Given the description of an element on the screen output the (x, y) to click on. 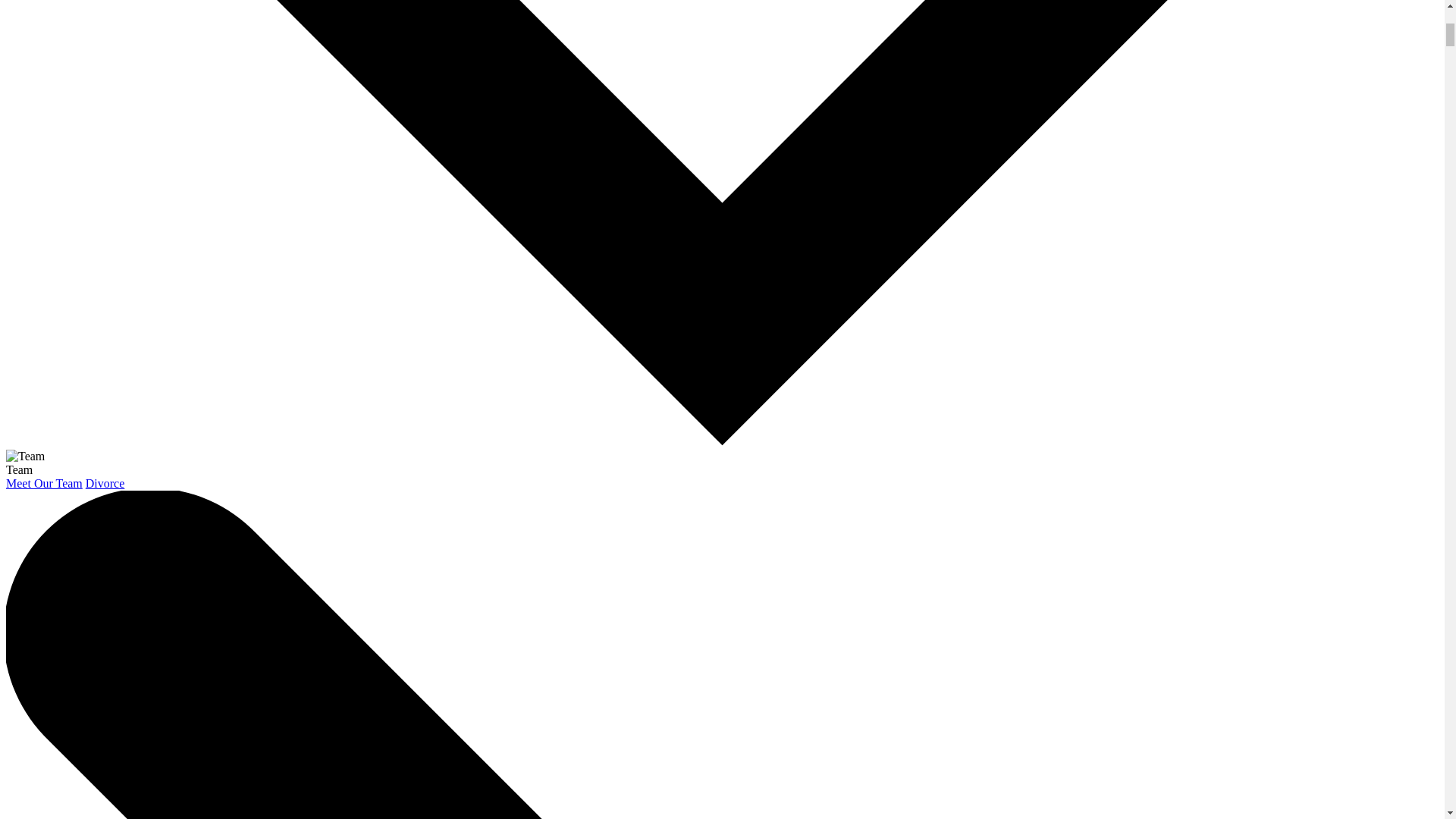
Meet Our Team (43, 482)
Meet Our Team (43, 482)
